Given the description of an element on the screen output the (x, y) to click on. 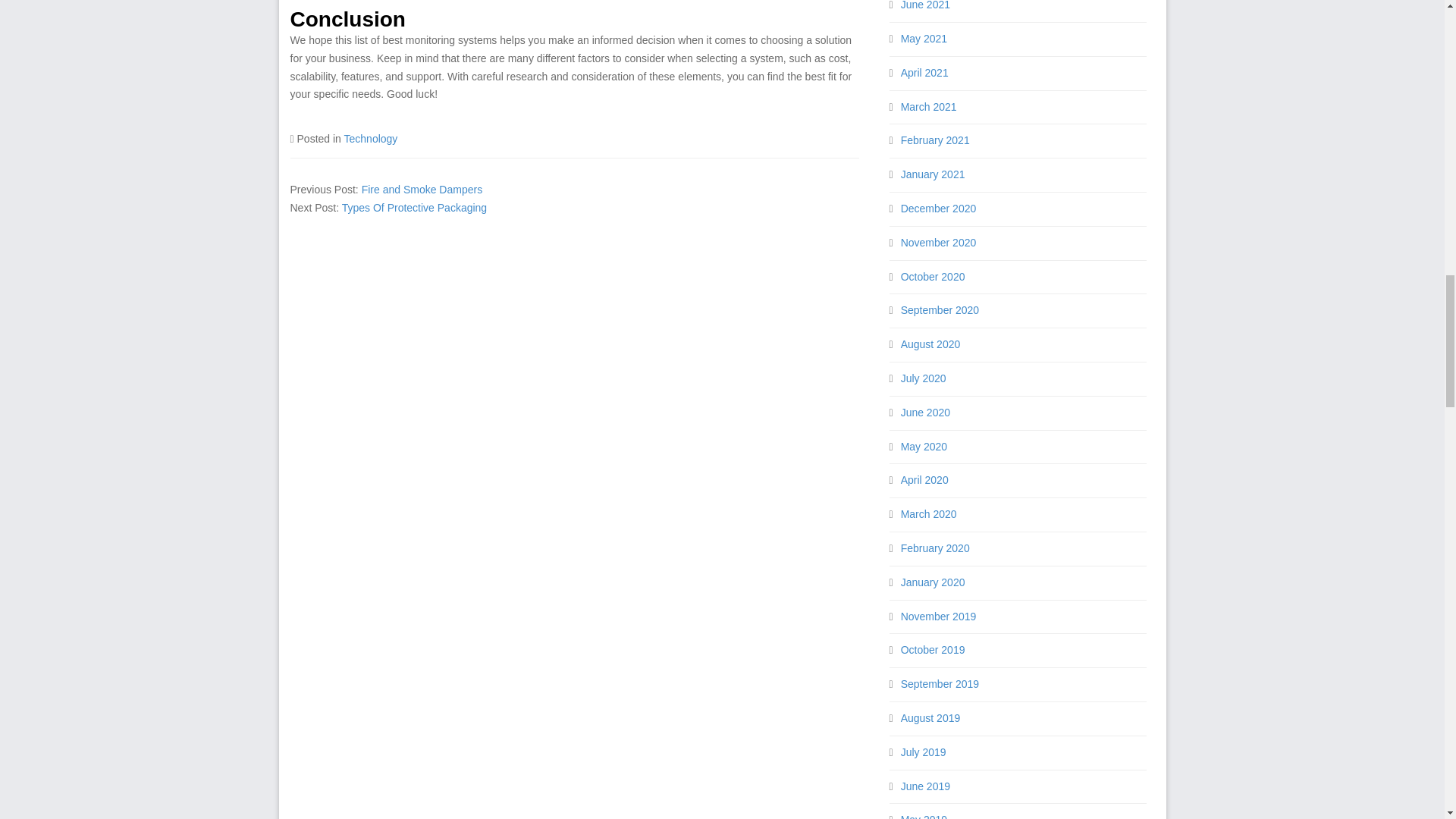
Types Of Protective Packaging (414, 207)
Technology (370, 138)
Fire and Smoke Dampers (422, 189)
